Given the description of an element on the screen output the (x, y) to click on. 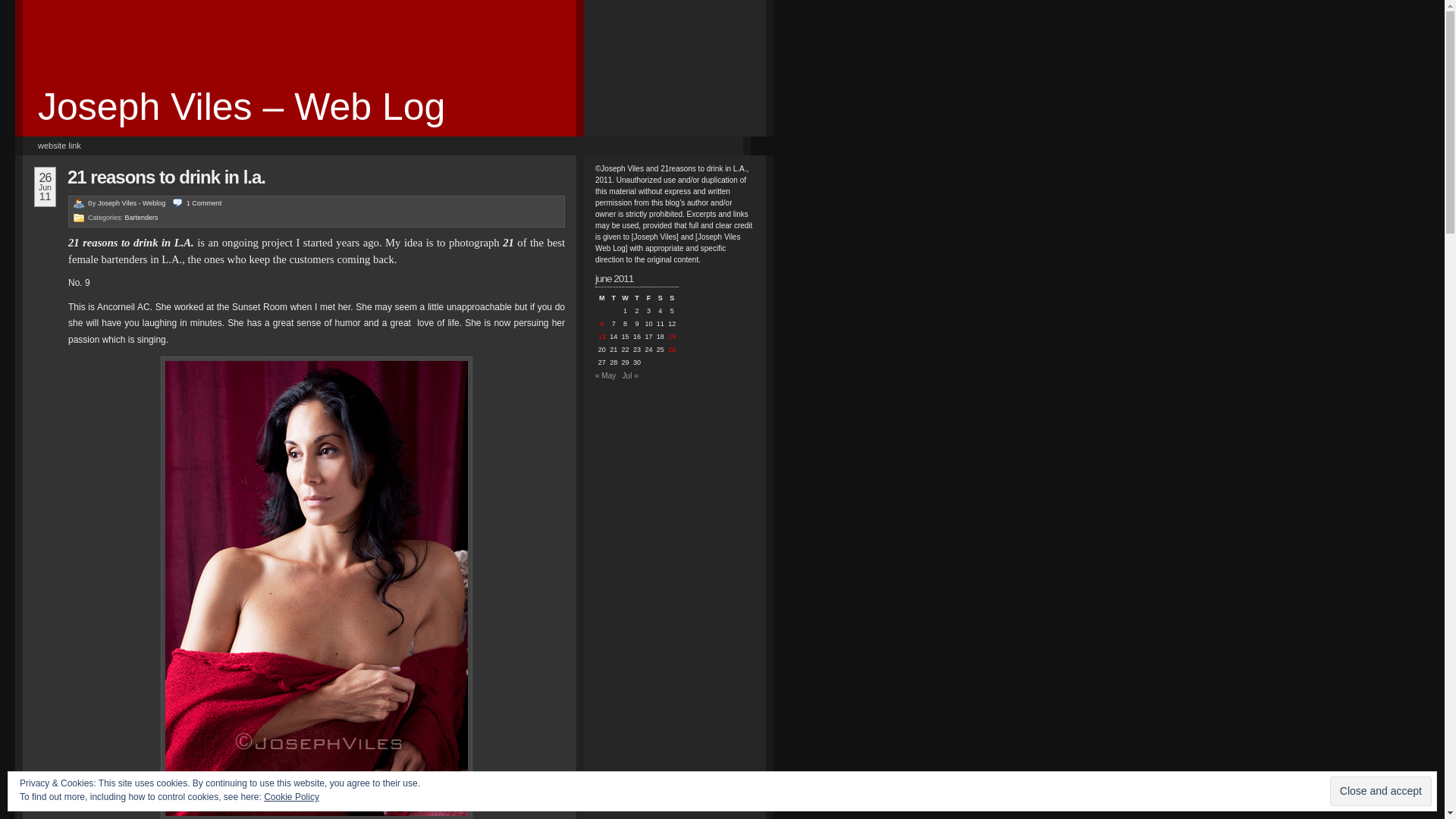
Bartenders Element type: text (141, 217)
Close and accept Element type: text (1380, 791)
21 reasons to drink in l.a. Element type: text (166, 176)
website link Element type: text (59, 145)
26 Element type: text (672, 349)
Comment Element type: text (1300, 797)
1 Comment Element type: text (196, 202)
Cookie Policy Element type: text (291, 796)
19 Element type: text (672, 336)
Follow Element type: text (1375, 797)
6 Element type: text (601, 323)
13 Element type: text (601, 336)
Joseph Viles - Weblog Element type: text (131, 203)
